Given the description of an element on the screen output the (x, y) to click on. 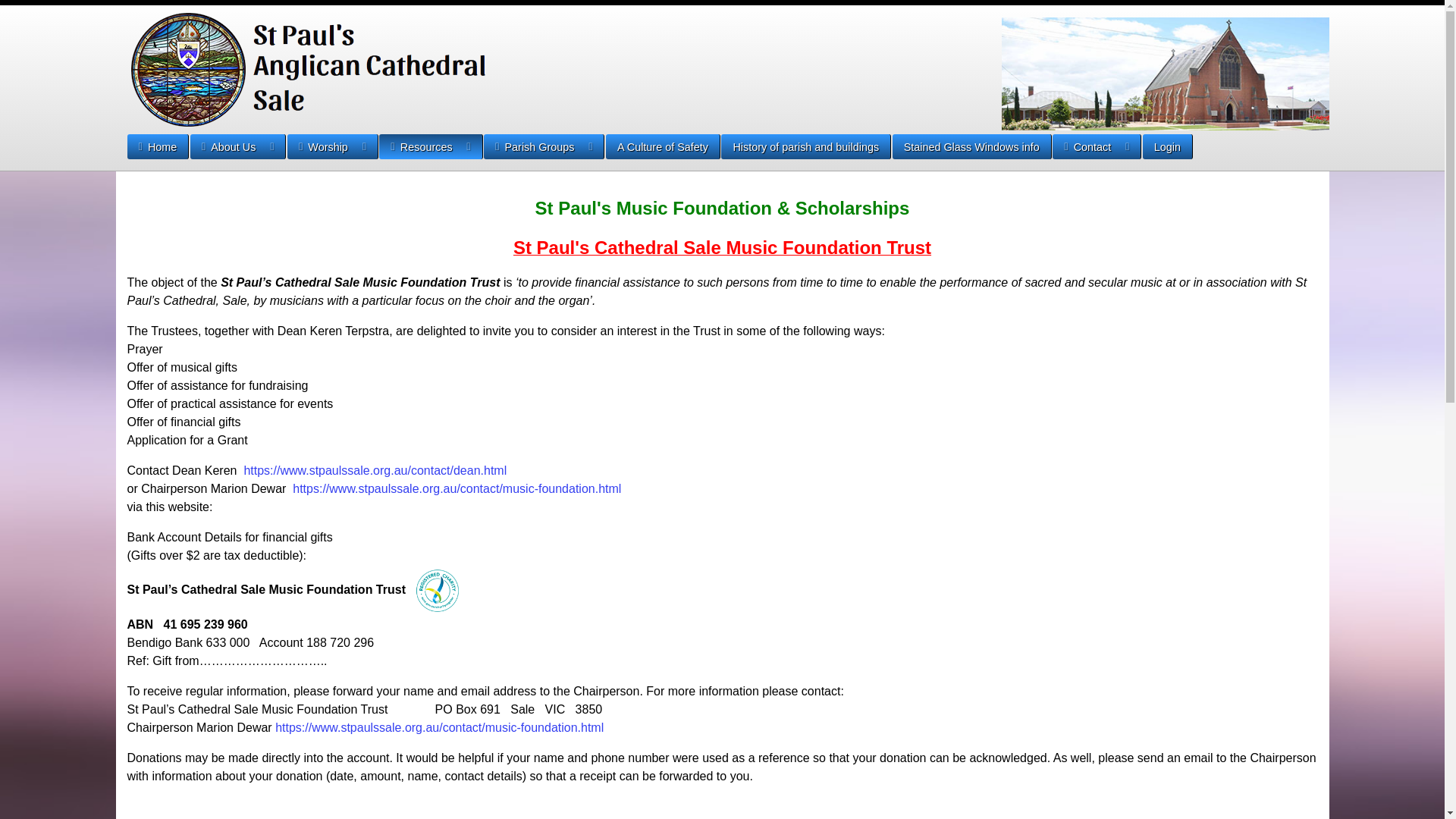
History of parish and buildings (805, 146)
Stained Glass Windows info (971, 146)
Resources (429, 146)
Parish Groups (543, 146)
Login (1167, 146)
Worship (332, 146)
A Culture of Safety (663, 146)
Contact (1097, 146)
Home (157, 146)
About Us (237, 146)
